Given the description of an element on the screen output the (x, y) to click on. 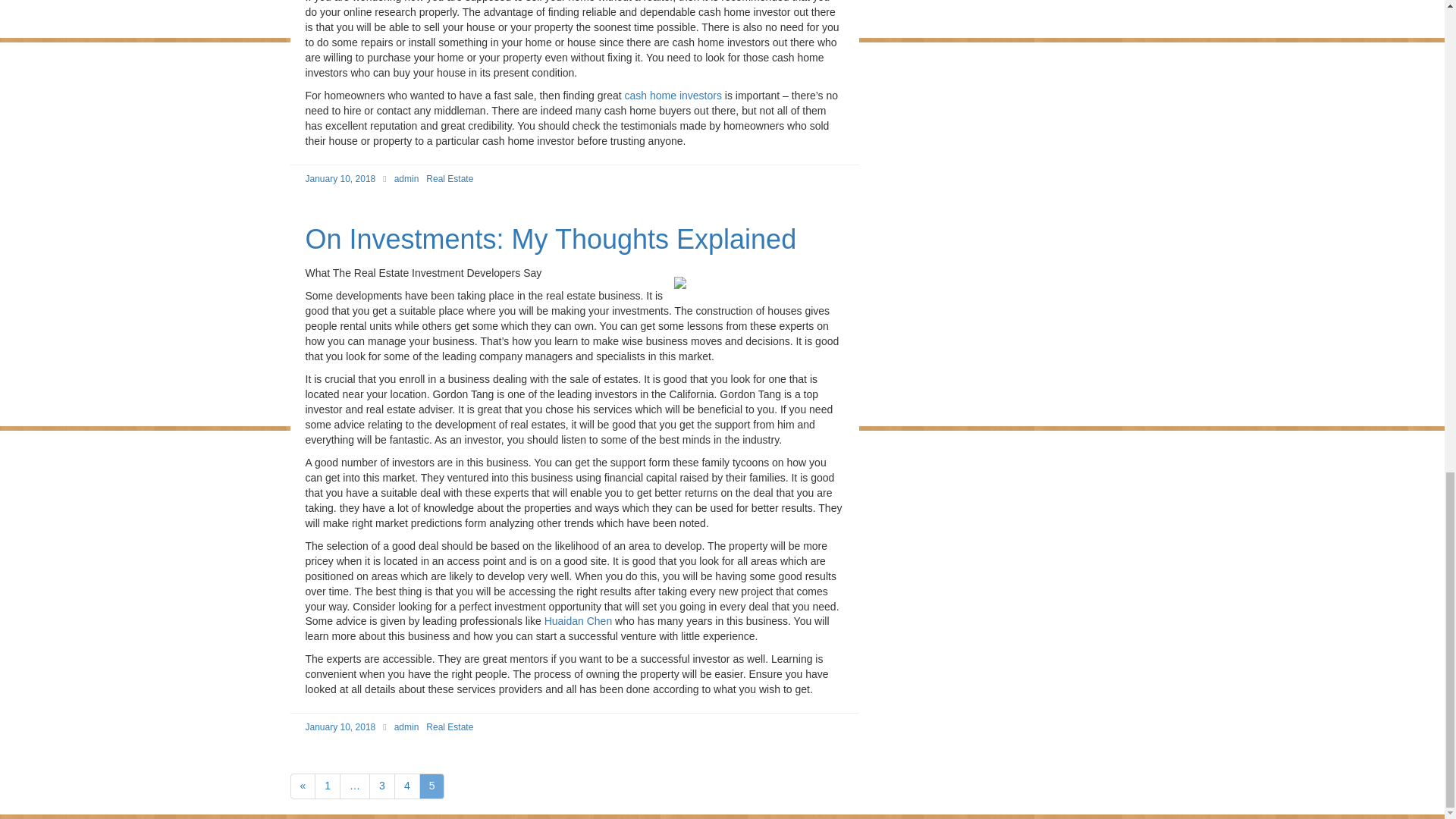
On Investments: My Thoughts Explained (550, 238)
1 (327, 786)
4 (407, 786)
January 10, 2018 (339, 726)
Huaidan Chen (578, 621)
January 10, 2018 (339, 178)
admin (406, 178)
Real Estate (449, 726)
admin (406, 726)
Real Estate (449, 178)
